Given the description of an element on the screen output the (x, y) to click on. 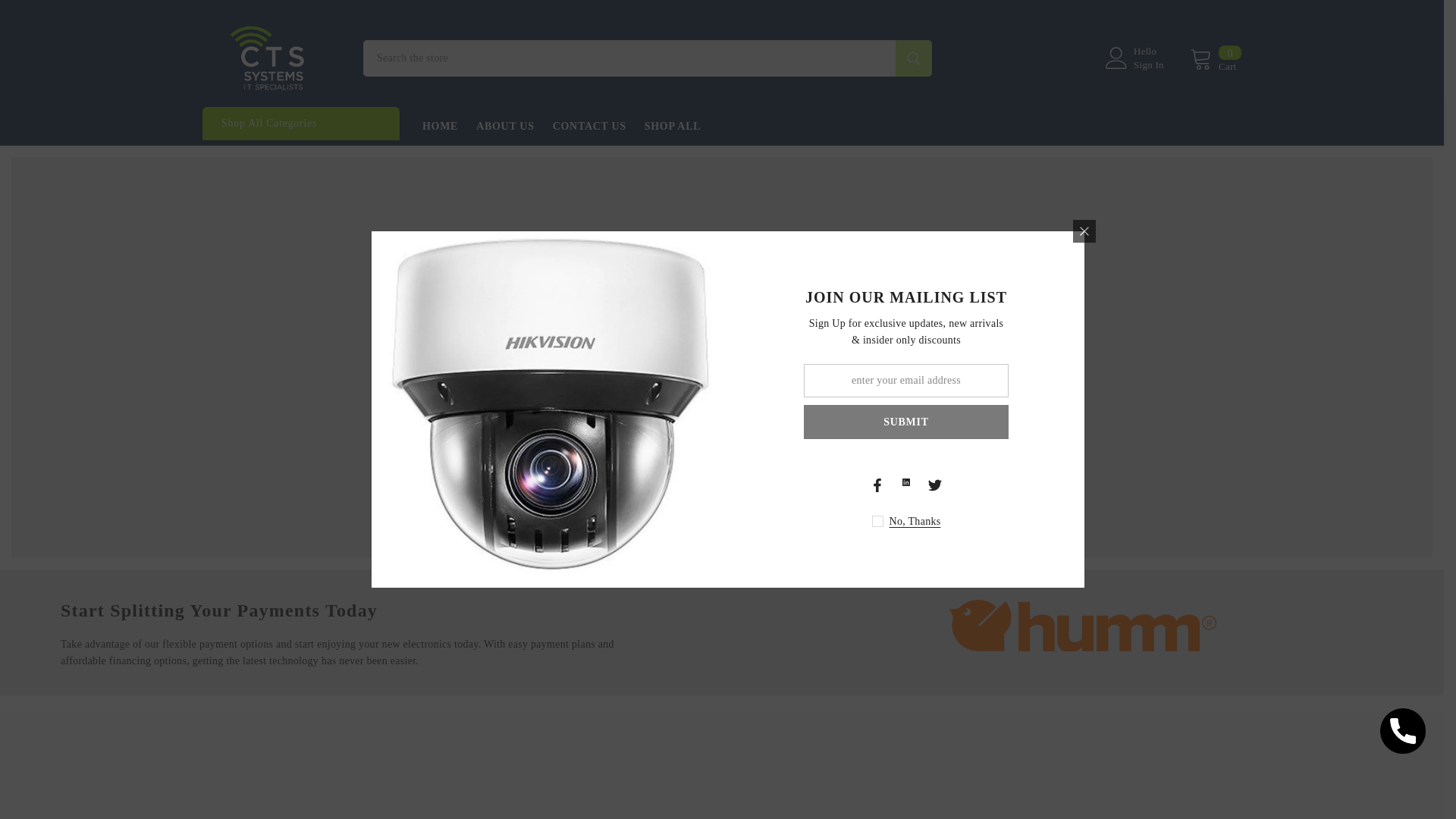
REVIEWS (903, 785)
